Given the description of an element on the screen output the (x, y) to click on. 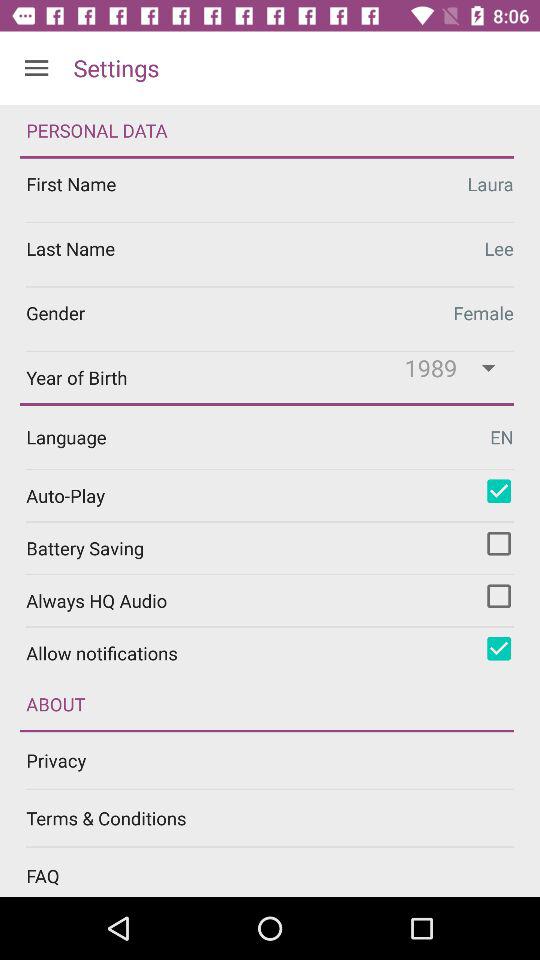
change gender (270, 318)
